Given the description of an element on the screen output the (x, y) to click on. 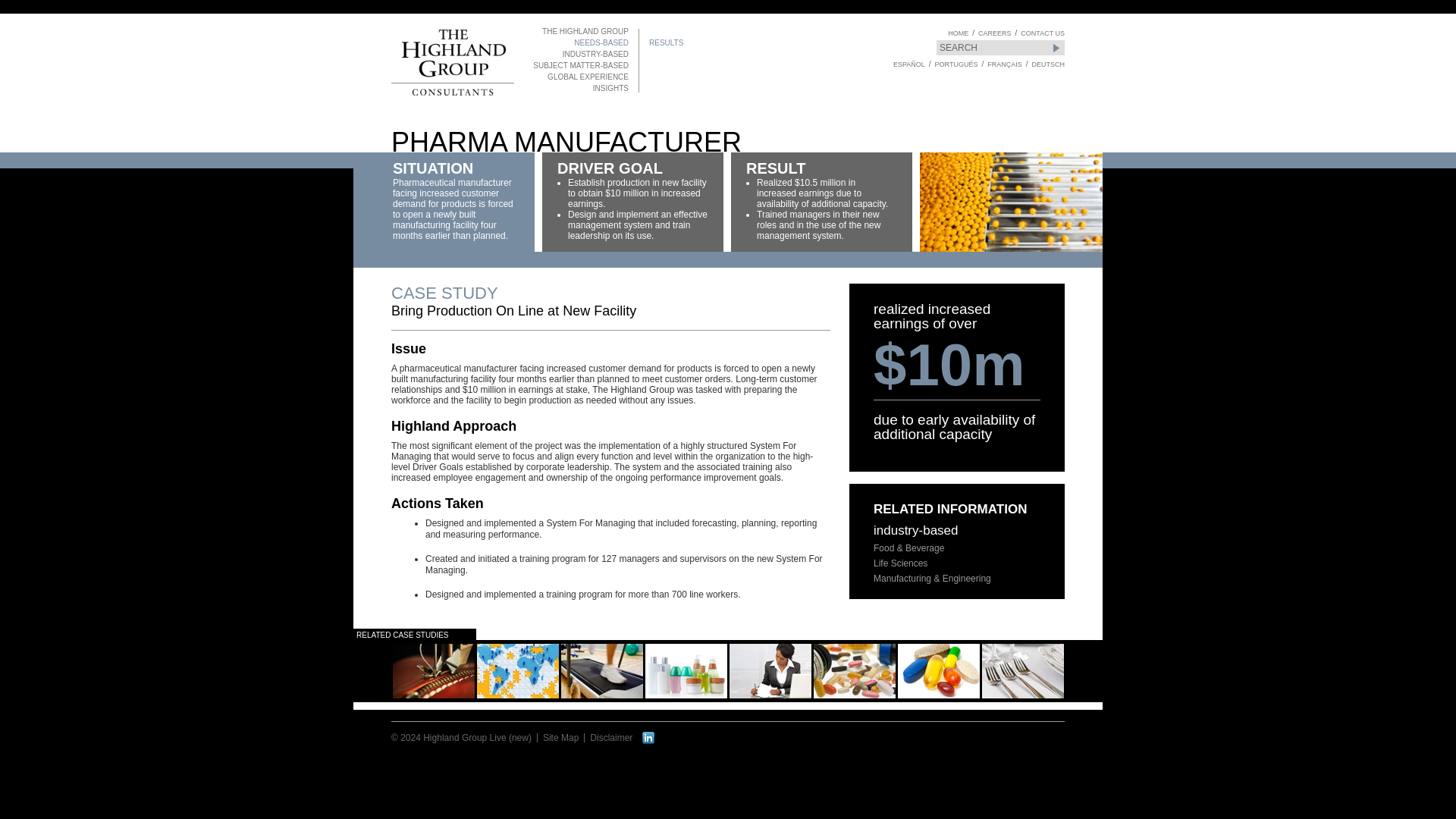
Life Sciences (900, 562)
SUBJECT MATTER-BASED (576, 65)
THE HIGHLAND GROUP (576, 31)
Site Map (560, 737)
HOME (957, 32)
Disclaimer (610, 737)
DEUTSCH (1047, 63)
CONTACT US (1042, 32)
CAREERS (994, 32)
INDUSTRY-BASED (576, 53)
NEEDS-BASED (576, 42)
INSIGHTS (576, 88)
GLOBAL EXPERIENCE (576, 76)
SEARCH (1000, 47)
Life Sciences (900, 562)
